Given the description of an element on the screen output the (x, y) to click on. 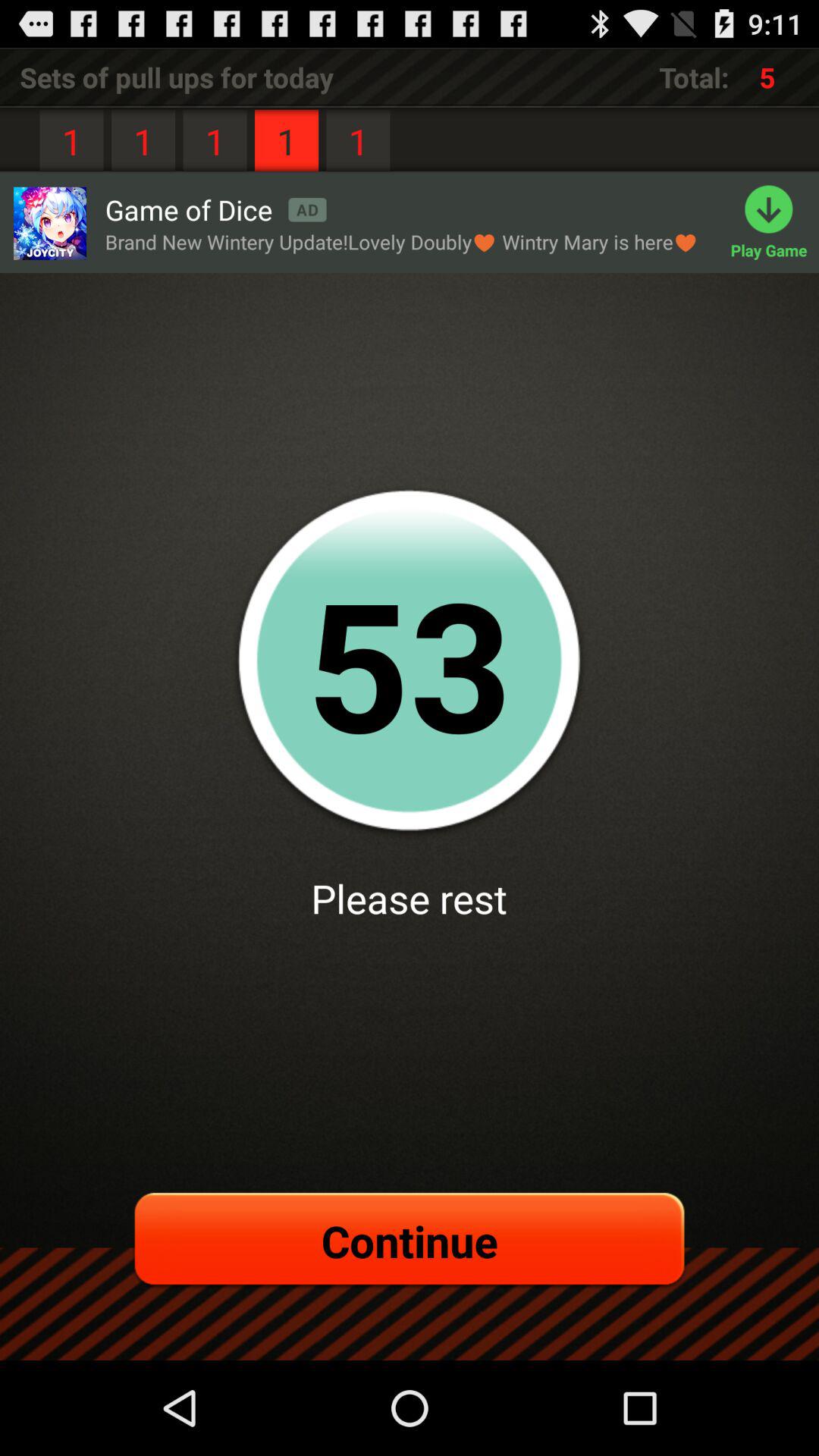
choose item above the 52 (401, 241)
